Given the description of an element on the screen output the (x, y) to click on. 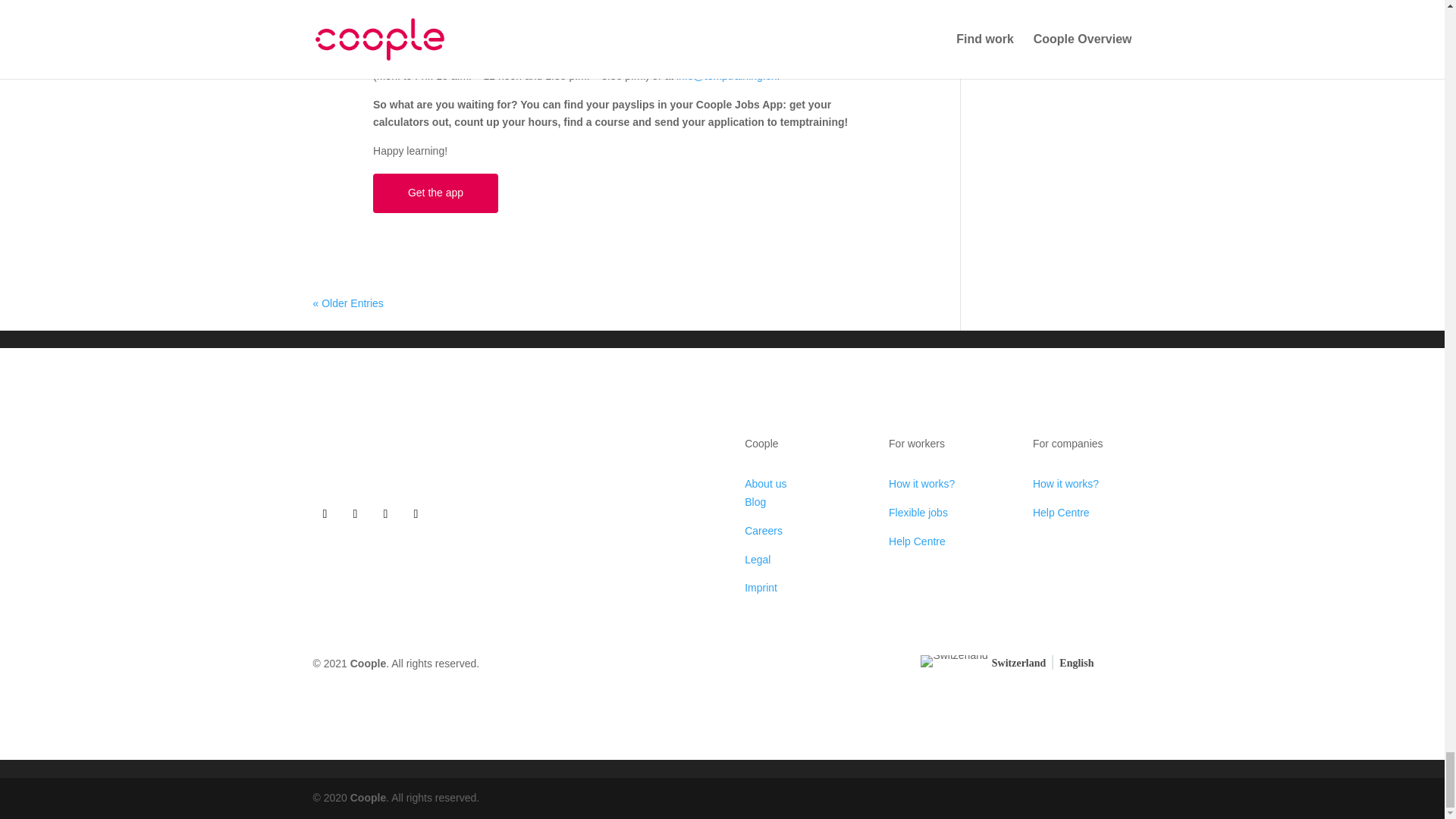
Follow on Instagram (415, 514)
Follow on Facebook (324, 514)
Follow on LinkedIn (354, 514)
Follow on Twitter (384, 514)
